Given the description of an element on the screen output the (x, y) to click on. 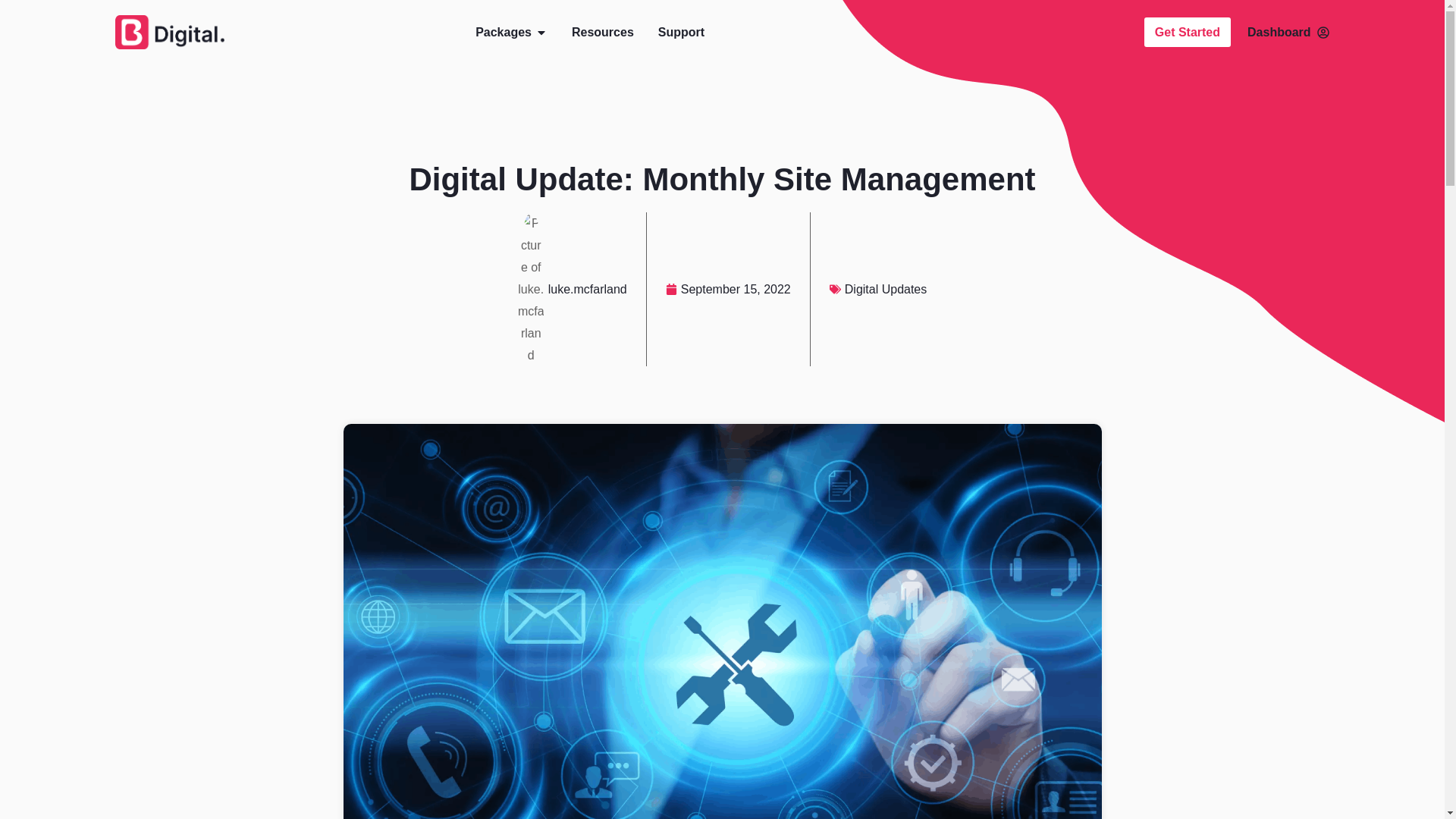
Resources (602, 32)
Digital Updates (885, 288)
Get Started (1186, 31)
Support (681, 32)
Dashboard (1288, 32)
